Given the description of an element on the screen output the (x, y) to click on. 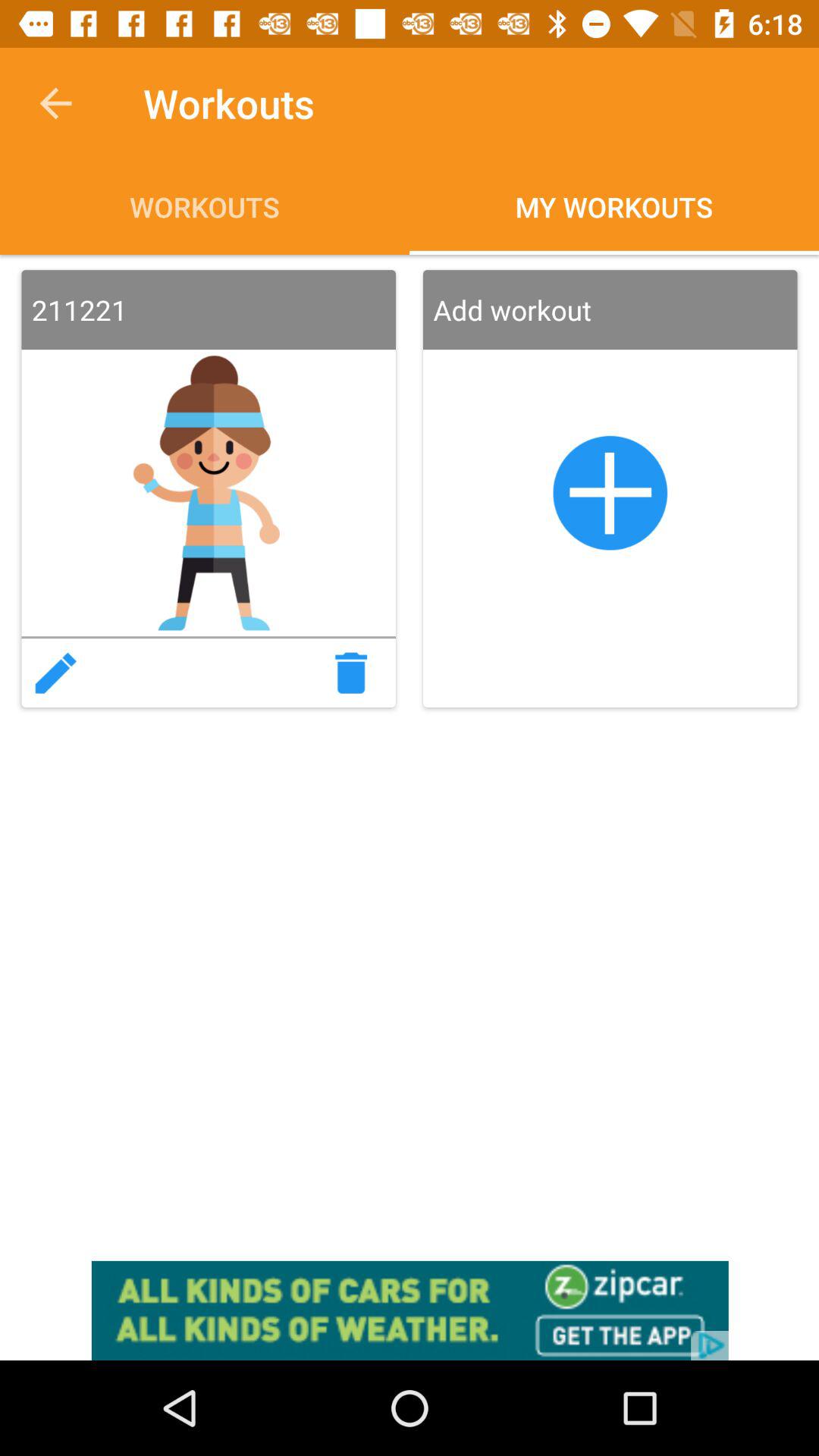
edit workout plan (55, 672)
